Given the description of an element on the screen output the (x, y) to click on. 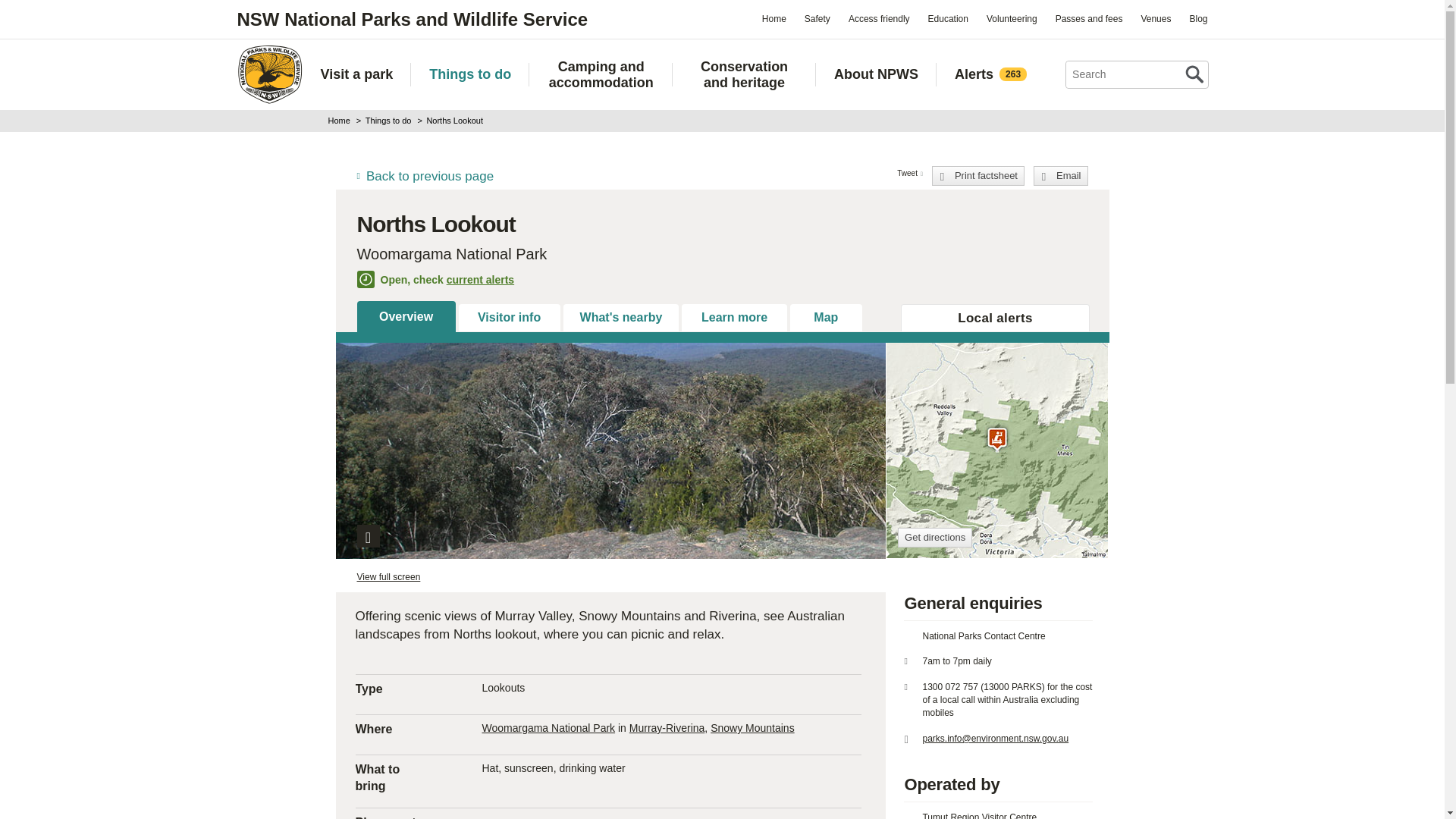
Venues (1155, 18)
Volunteering (1011, 18)
Passes and fees (1089, 18)
Blog (1197, 18)
Home (268, 74)
Visit a park (356, 73)
Access friendly (879, 18)
Home (773, 18)
Print-friendly version of these webpages (978, 175)
Safety (816, 18)
Conservation and heritage (743, 74)
Things to do (470, 73)
Education (947, 18)
Camping and accommodation (600, 74)
View photo in full screen (367, 535)
